Given the description of an element on the screen output the (x, y) to click on. 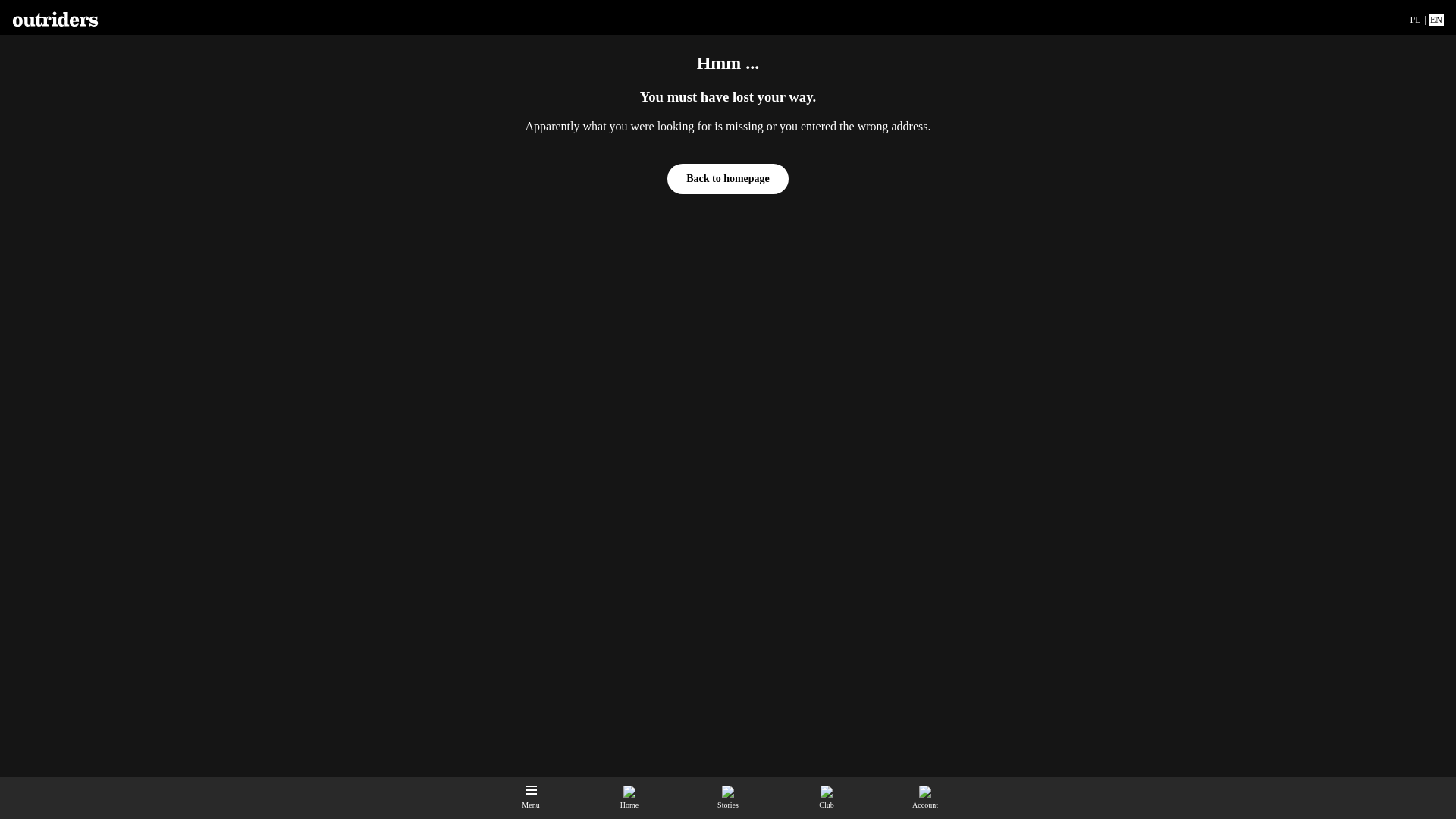
Back to homepage (727, 178)
EN (1436, 19)
PL (1415, 19)
